Given the description of an element on the screen output the (x, y) to click on. 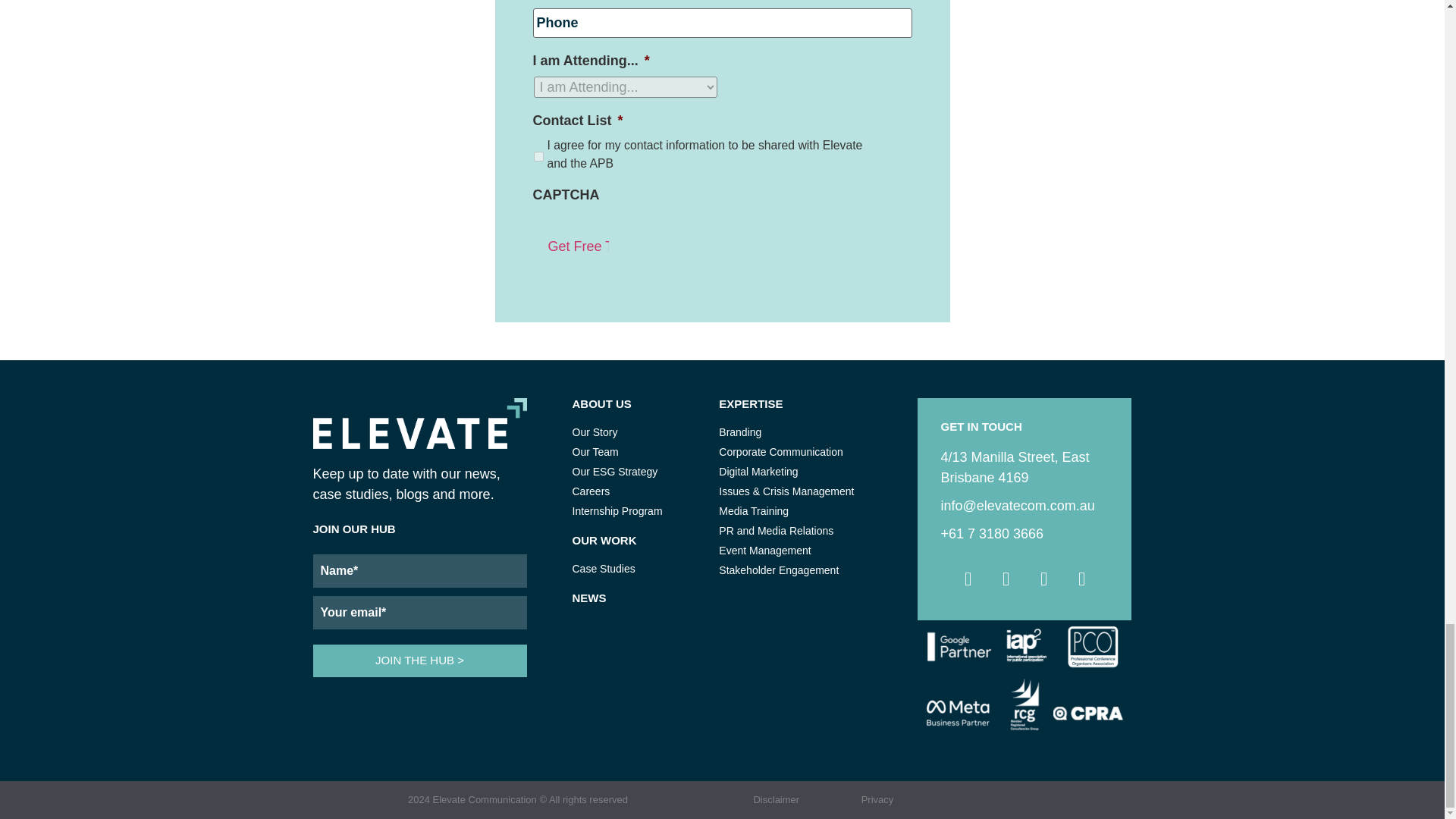
Get Free Ticket (570, 246)
